Given the description of an element on the screen output the (x, y) to click on. 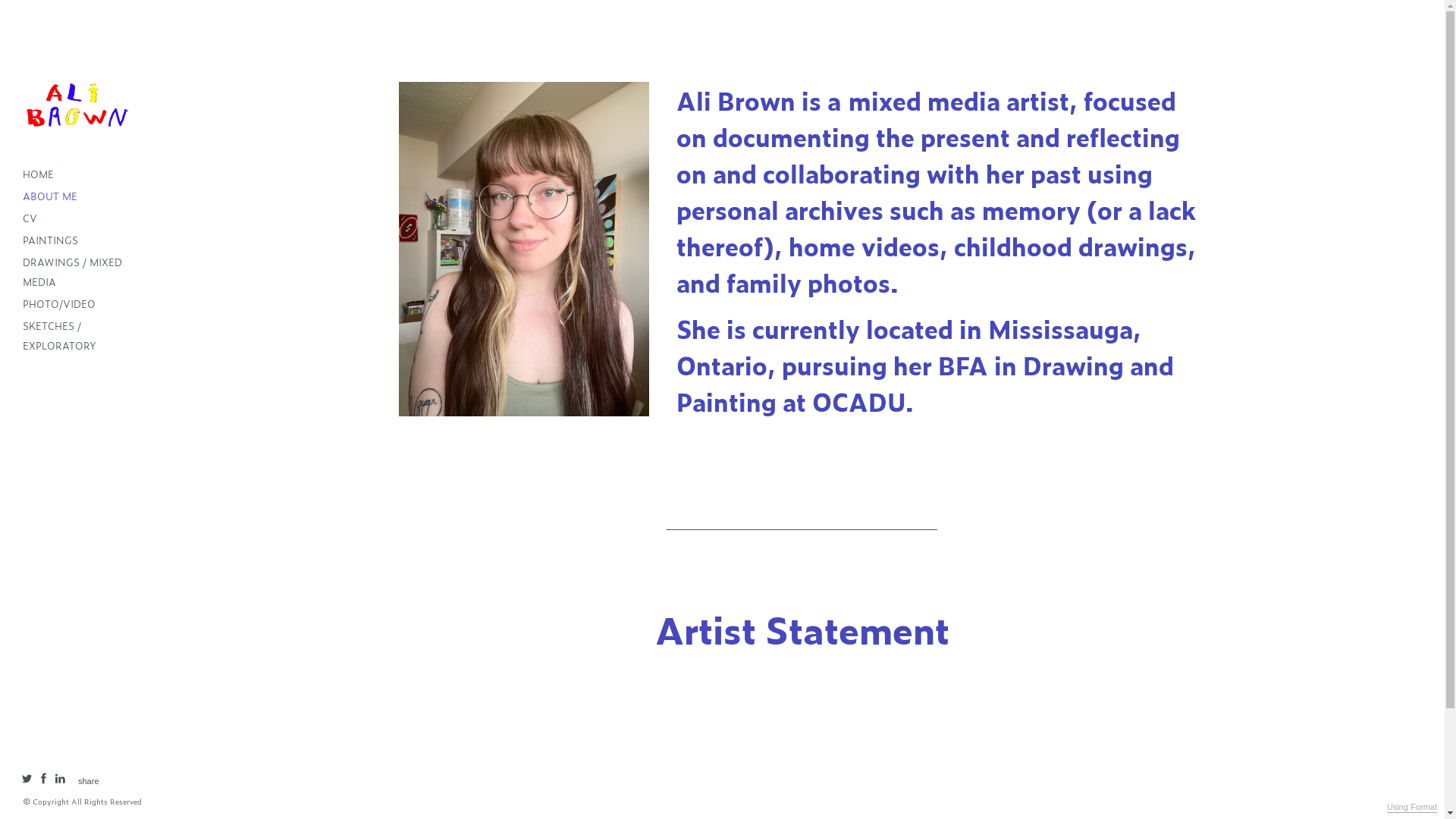
share Element type: text (88, 781)
ABOUT ME Element type: text (75, 196)
HOME Element type: text (75, 174)
SKETCHES / EXPLORATORY Element type: text (75, 335)
PHOTO/VIDEO Element type: text (75, 303)
DRAWINGS / MIXED MEDIA Element type: text (75, 271)
CV Element type: text (75, 218)
PAINTINGS Element type: text (75, 240)
Using Format Element type: text (1411, 807)
